Given the description of an element on the screen output the (x, y) to click on. 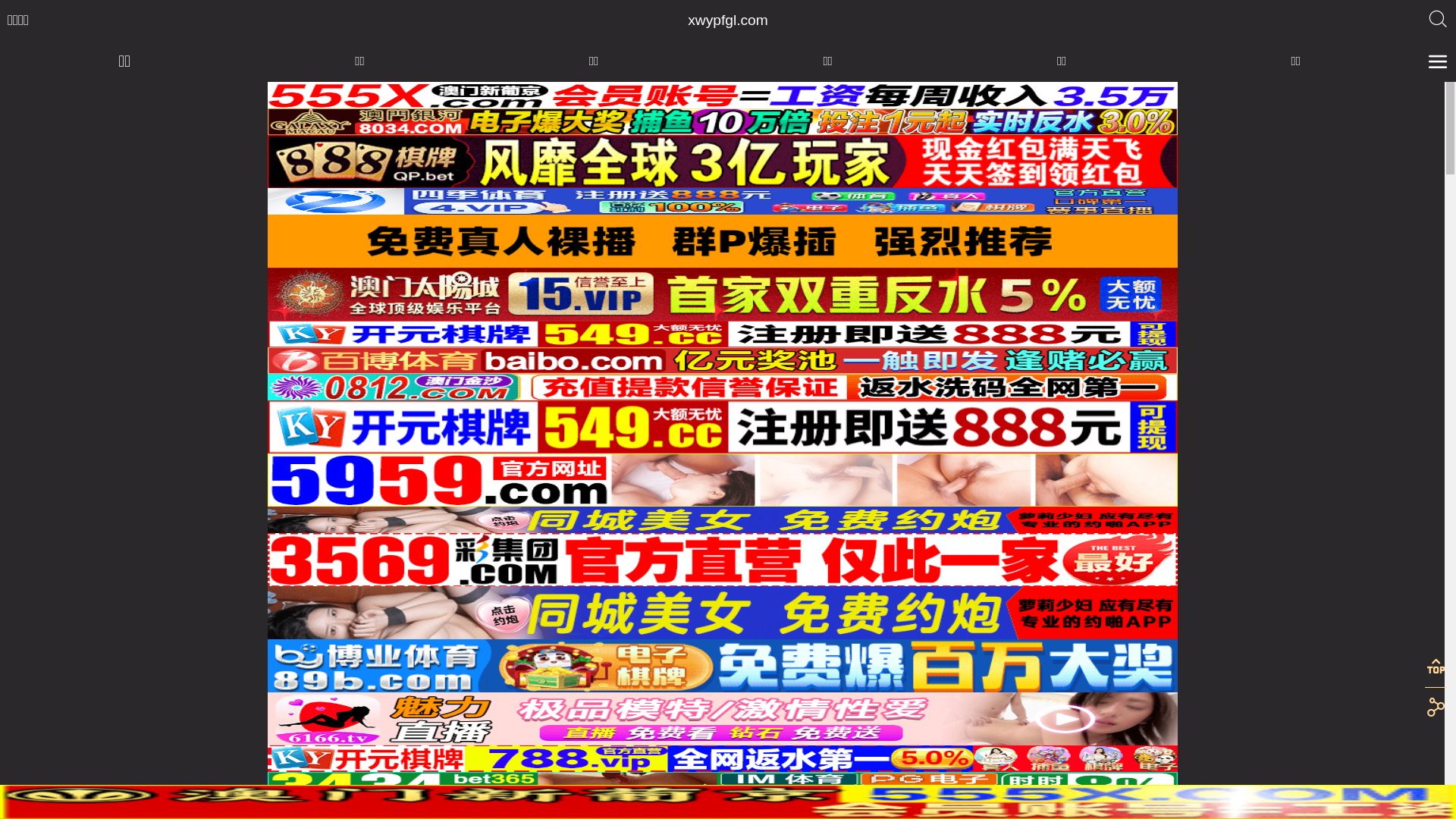
xwypfgl.com Element type: text (727, 20)
